Given the description of an element on the screen output the (x, y) to click on. 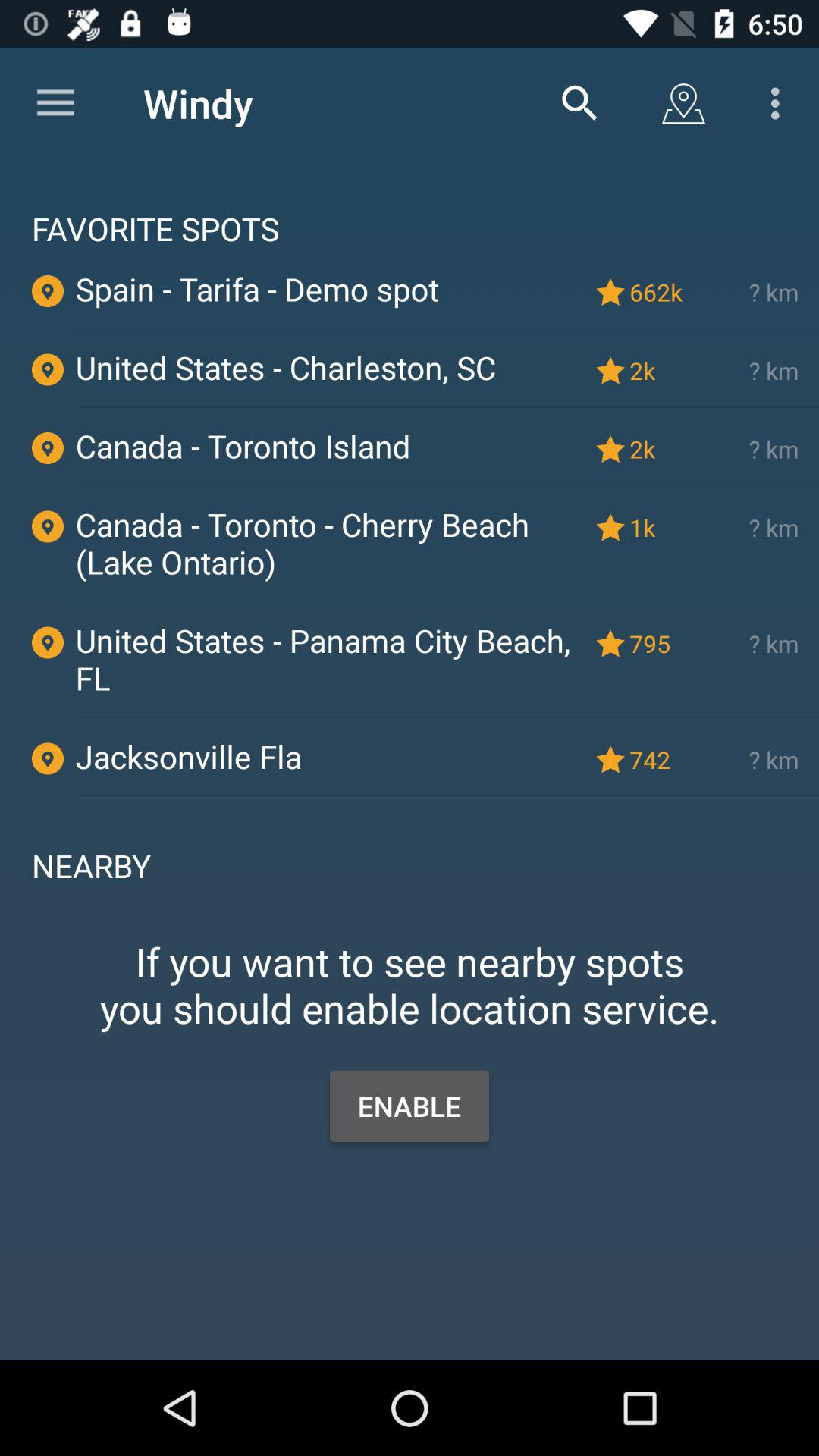
press the icon above the canada - toronto island item (448, 406)
